Given the description of an element on the screen output the (x, y) to click on. 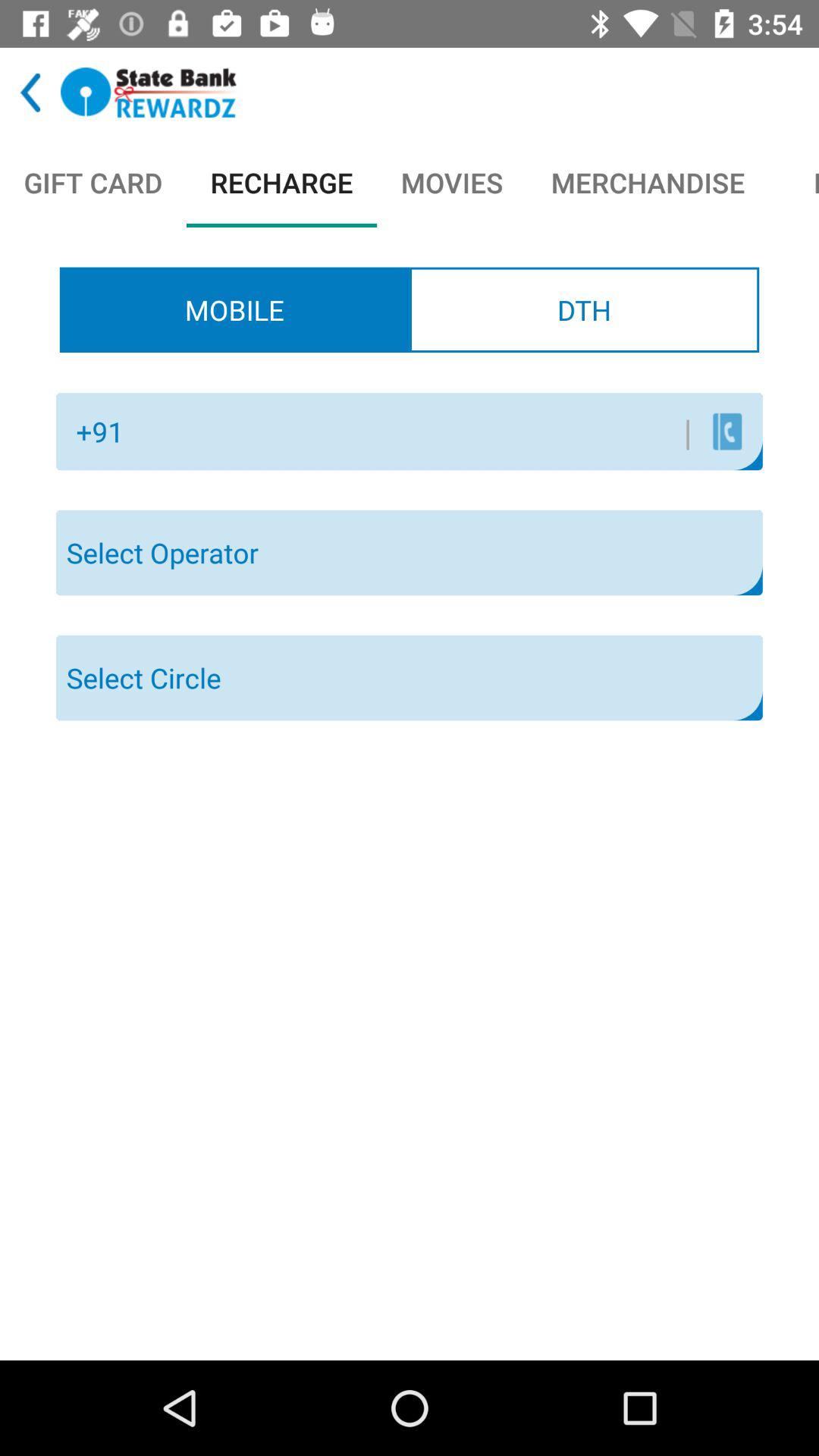
press the icon to the left of the | icon (413, 431)
